Given the description of an element on the screen output the (x, y) to click on. 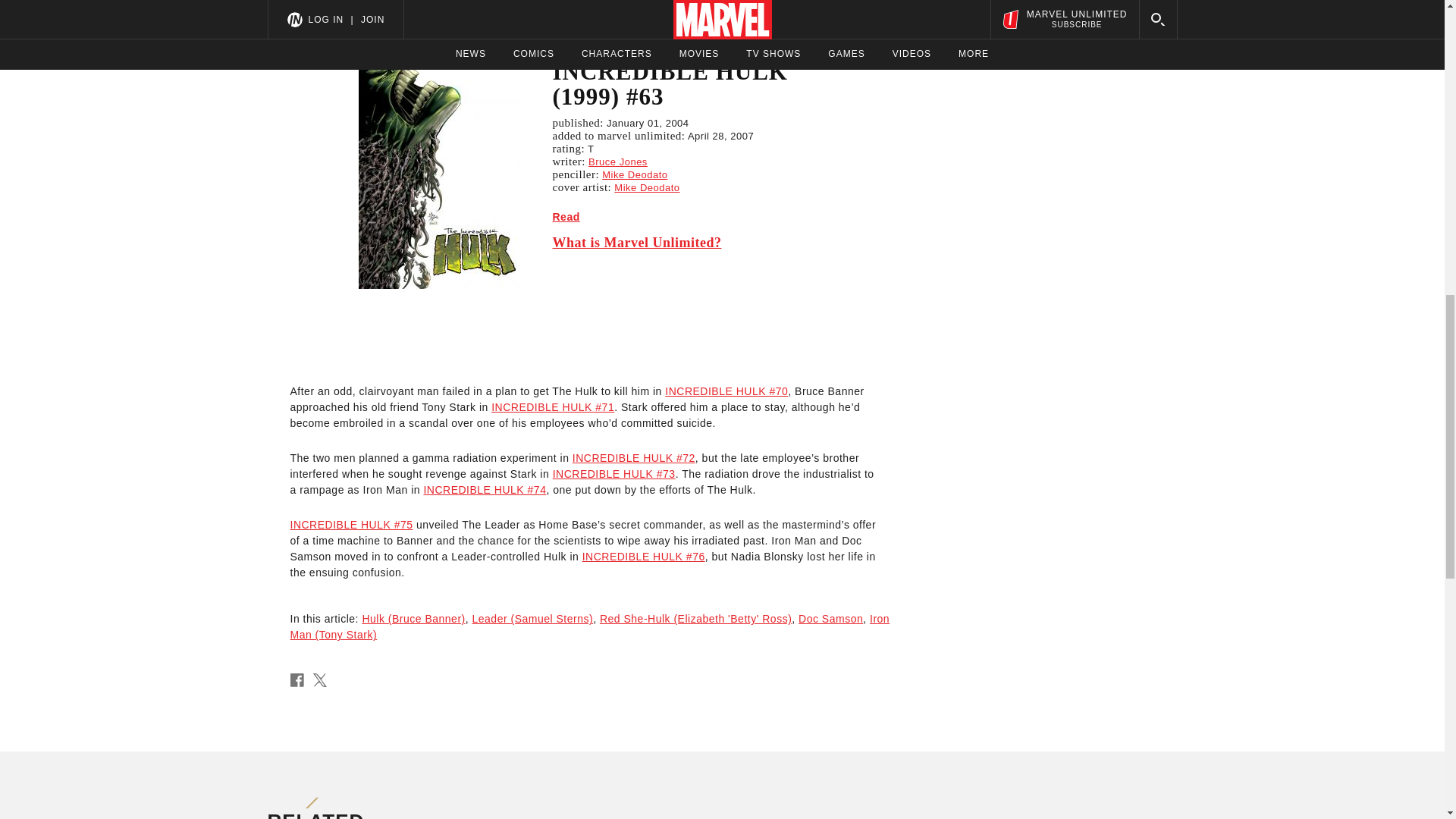
Mike Deodato (634, 174)
Mike Deodato (646, 187)
Bruce Jones (617, 161)
Read (565, 216)
What is Marvel Unlimited? (681, 242)
